Given the description of an element on the screen output the (x, y) to click on. 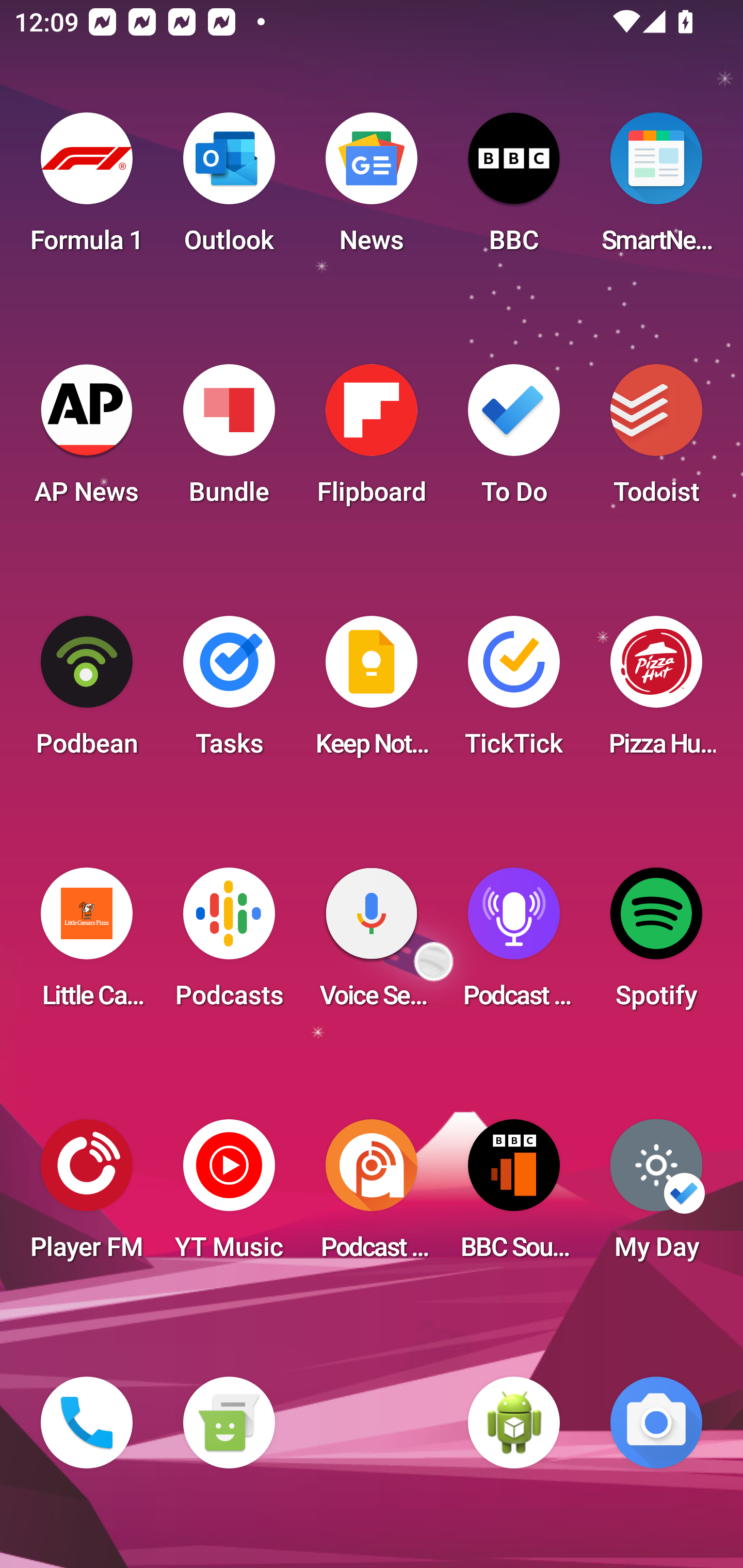
Formula 1 (86, 188)
Outlook (228, 188)
News (371, 188)
BBC (513, 188)
SmartNews (656, 188)
AP News (86, 440)
Bundle (228, 440)
Flipboard (371, 440)
To Do (513, 440)
Todoist (656, 440)
Podbean (86, 692)
Tasks (228, 692)
Keep Notes (371, 692)
TickTick (513, 692)
Pizza Hut HK & Macau (656, 692)
Little Caesars Pizza (86, 943)
Podcasts (228, 943)
Voice Search (371, 943)
Podcast Player (513, 943)
Spotify (656, 943)
Player FM (86, 1195)
YT Music (228, 1195)
Podcast Addict (371, 1195)
BBC Sounds (513, 1195)
My Day (656, 1195)
Phone (86, 1422)
Messaging (228, 1422)
WebView Browser Tester (513, 1422)
Camera (656, 1422)
